Given the description of an element on the screen output the (x, y) to click on. 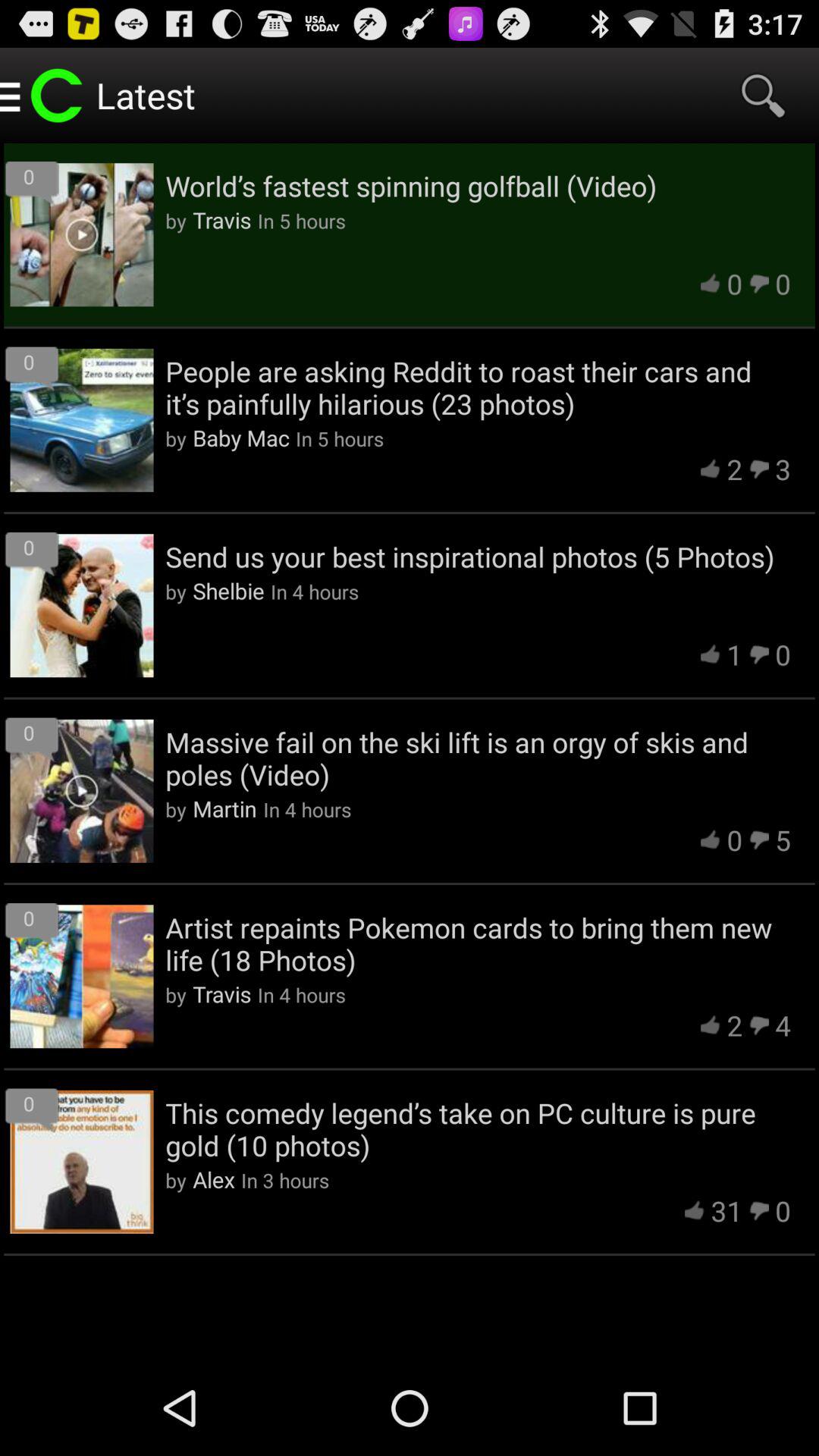
open the app next to in 3 hours icon (213, 1179)
